Given the description of an element on the screen output the (x, y) to click on. 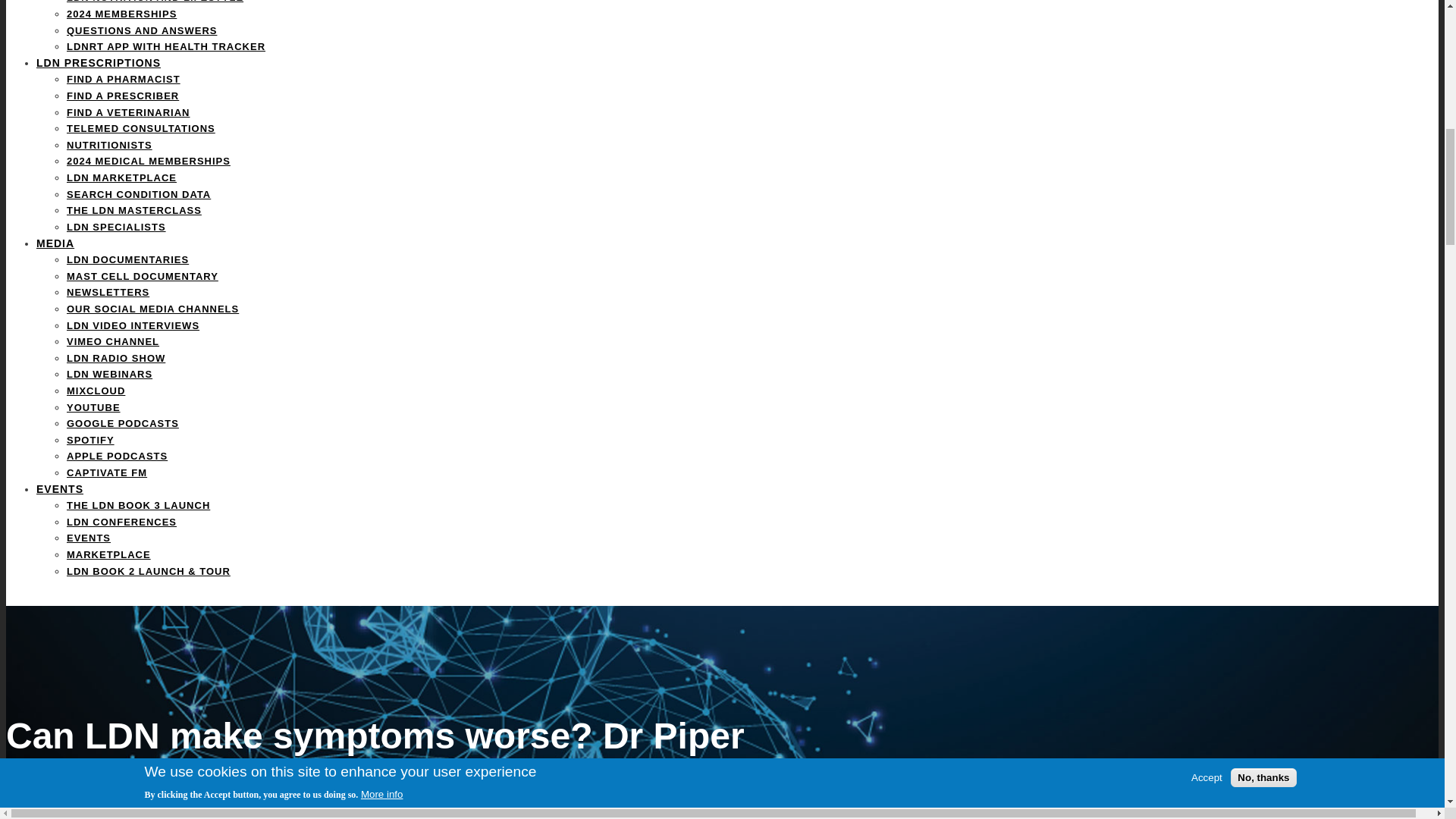
LDN Prescribers (122, 95)
Information (98, 62)
CY 2024 Memberships (121, 13)
